Given the description of an element on the screen output the (x, y) to click on. 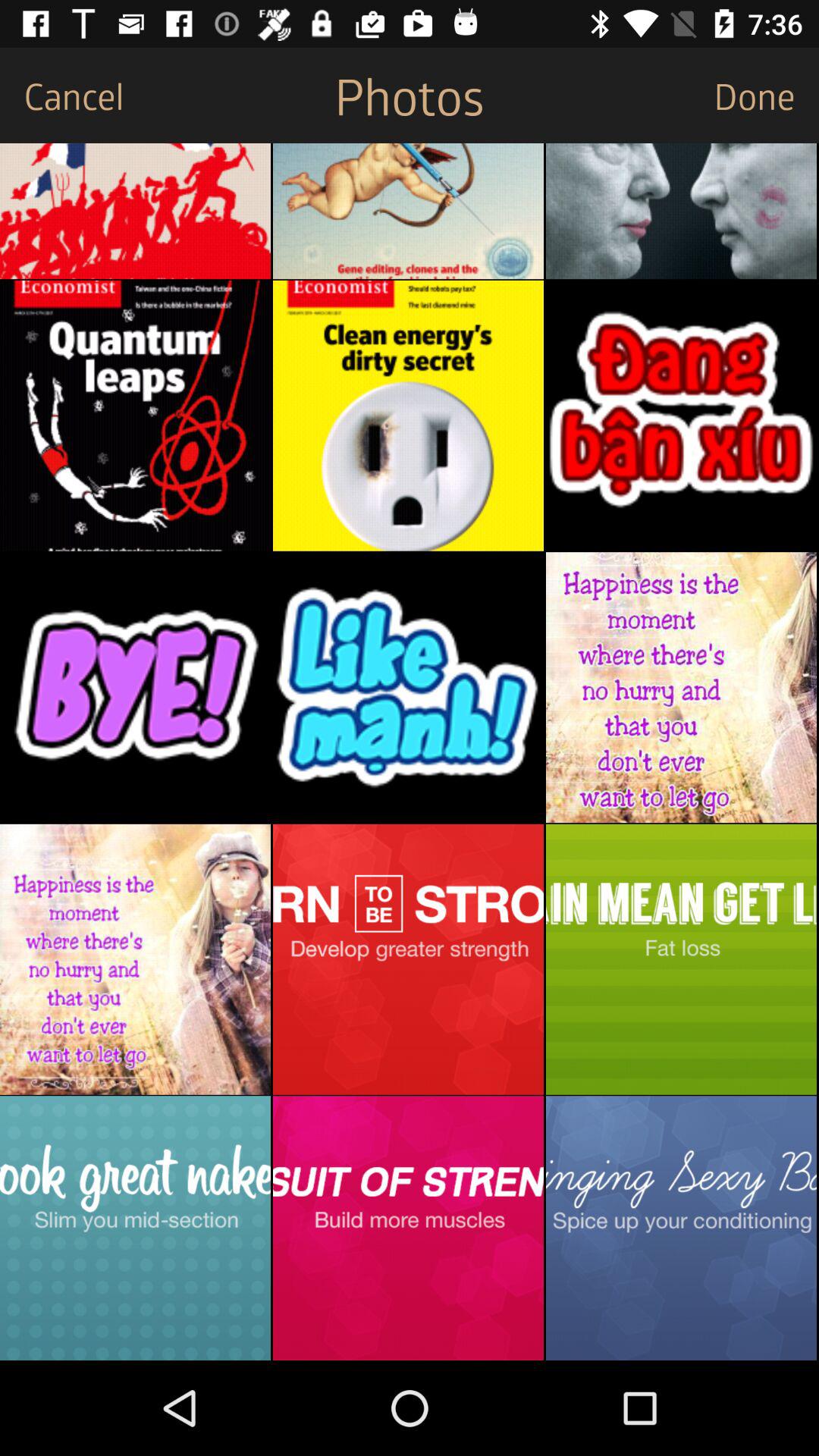
select photo (681, 959)
